Given the description of an element on the screen output the (x, y) to click on. 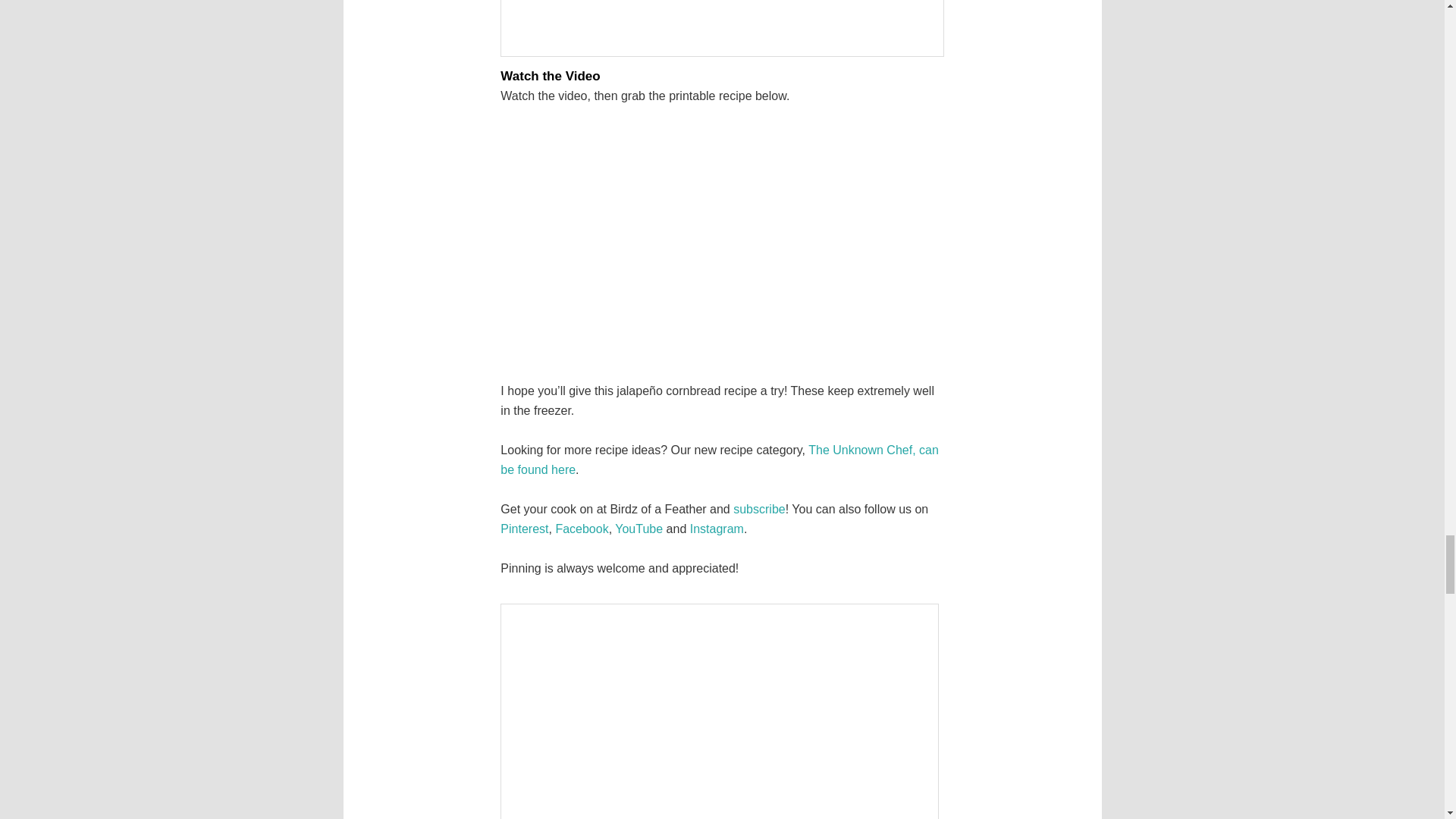
Instagram (717, 528)
Pinterest (524, 528)
Facebook (581, 528)
subscribe (758, 508)
The Unknown Chef, can be found here (719, 459)
YouTube (638, 528)
